Given the description of an element on the screen output the (x, y) to click on. 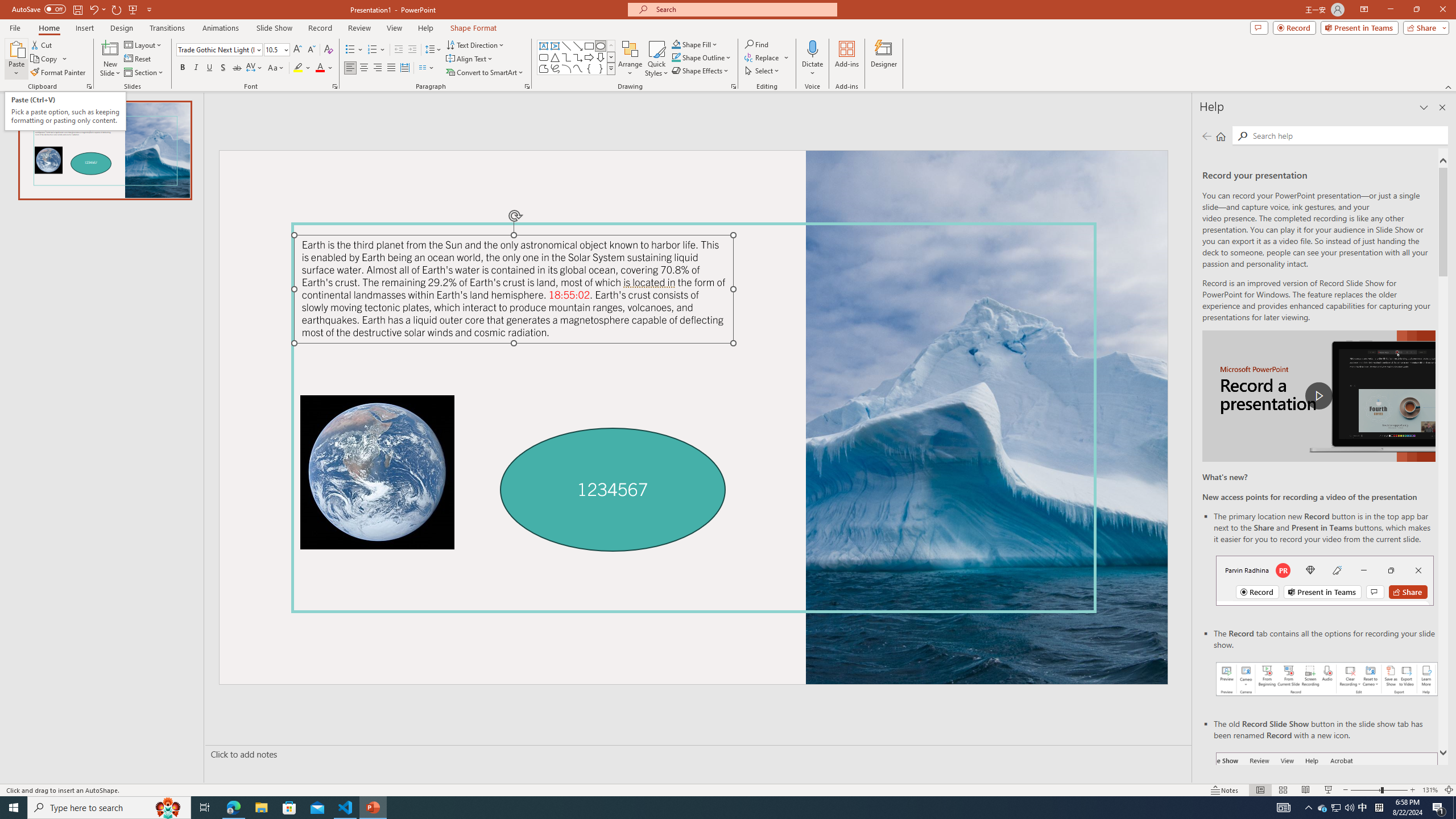
Shape Fill Aqua, Accent 2 (675, 44)
